Given the description of an element on the screen output the (x, y) to click on. 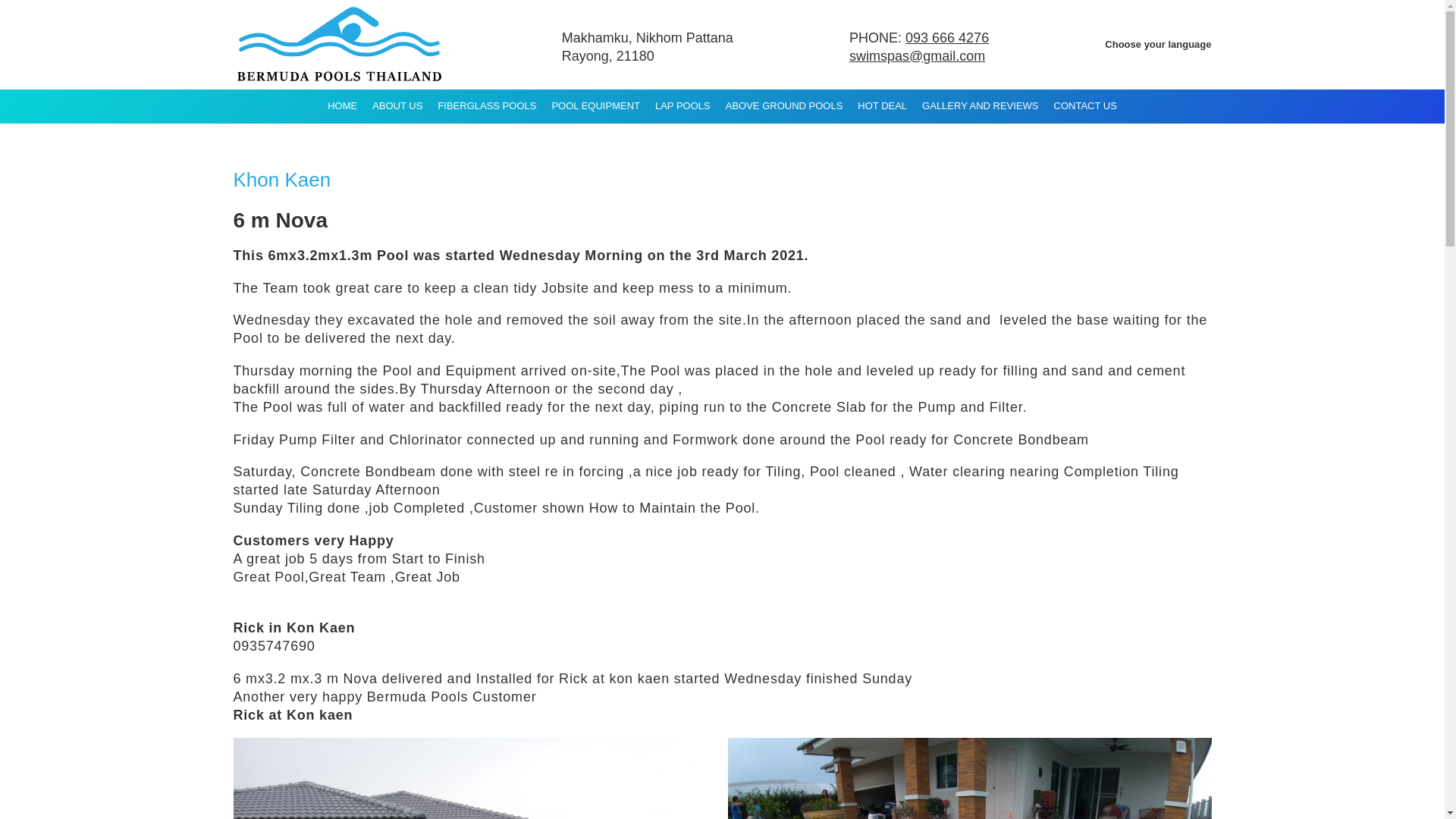
HOT DEAL (882, 106)
ABOVE GROUND POOLS (783, 106)
GALLERY AND REVIEWS (979, 106)
ABOUT US (397, 106)
POOL EQUIPMENT (595, 106)
093 666 4276 (946, 37)
HOME (342, 106)
FIBERGLASS POOLS (486, 106)
CONTACT US (1085, 106)
LAP POOLS (682, 106)
